Given the description of an element on the screen output the (x, y) to click on. 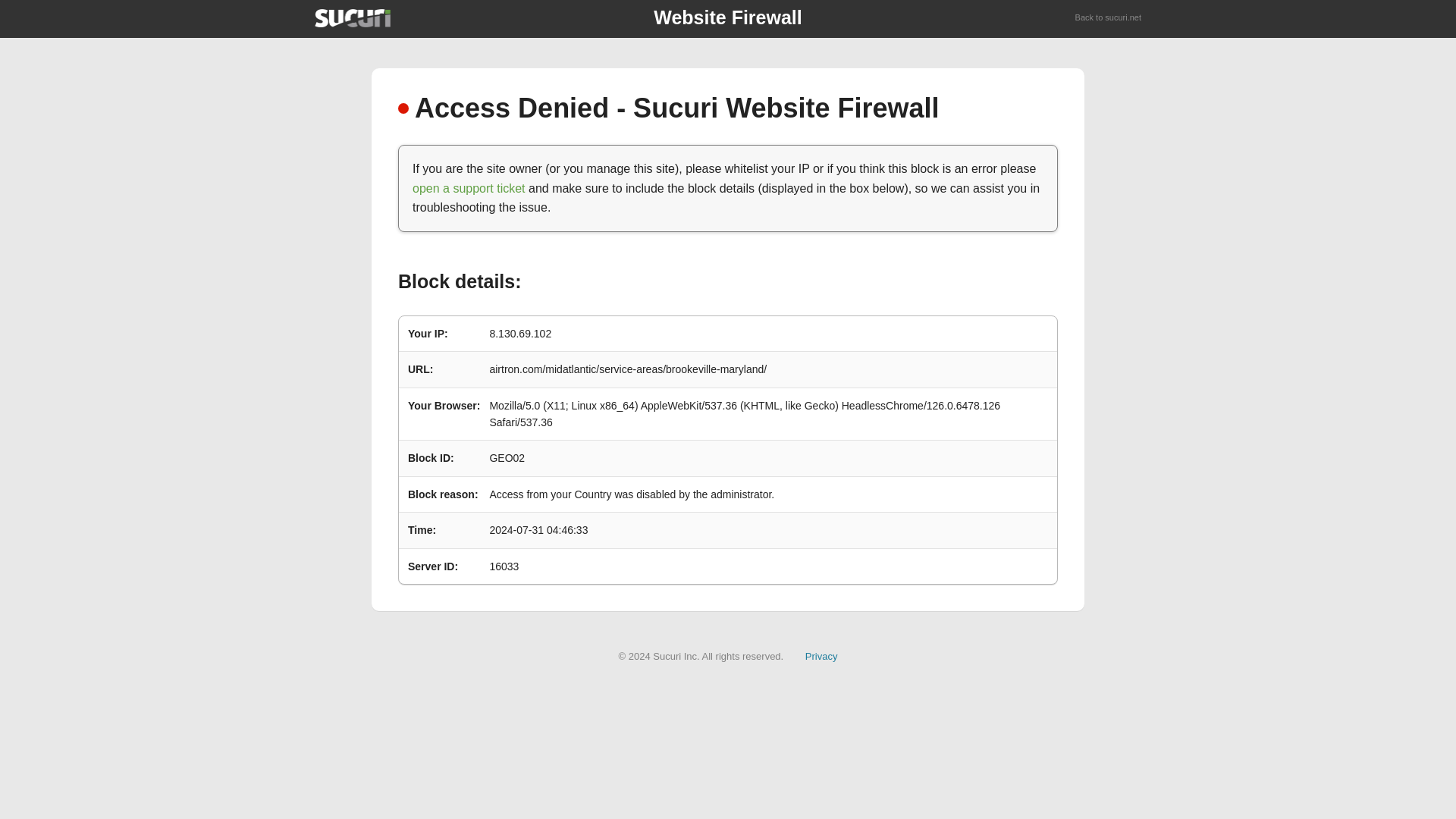
Back to sucuri.net (1108, 18)
Privacy (821, 655)
open a support ticket (468, 187)
